Given the description of an element on the screen output the (x, y) to click on. 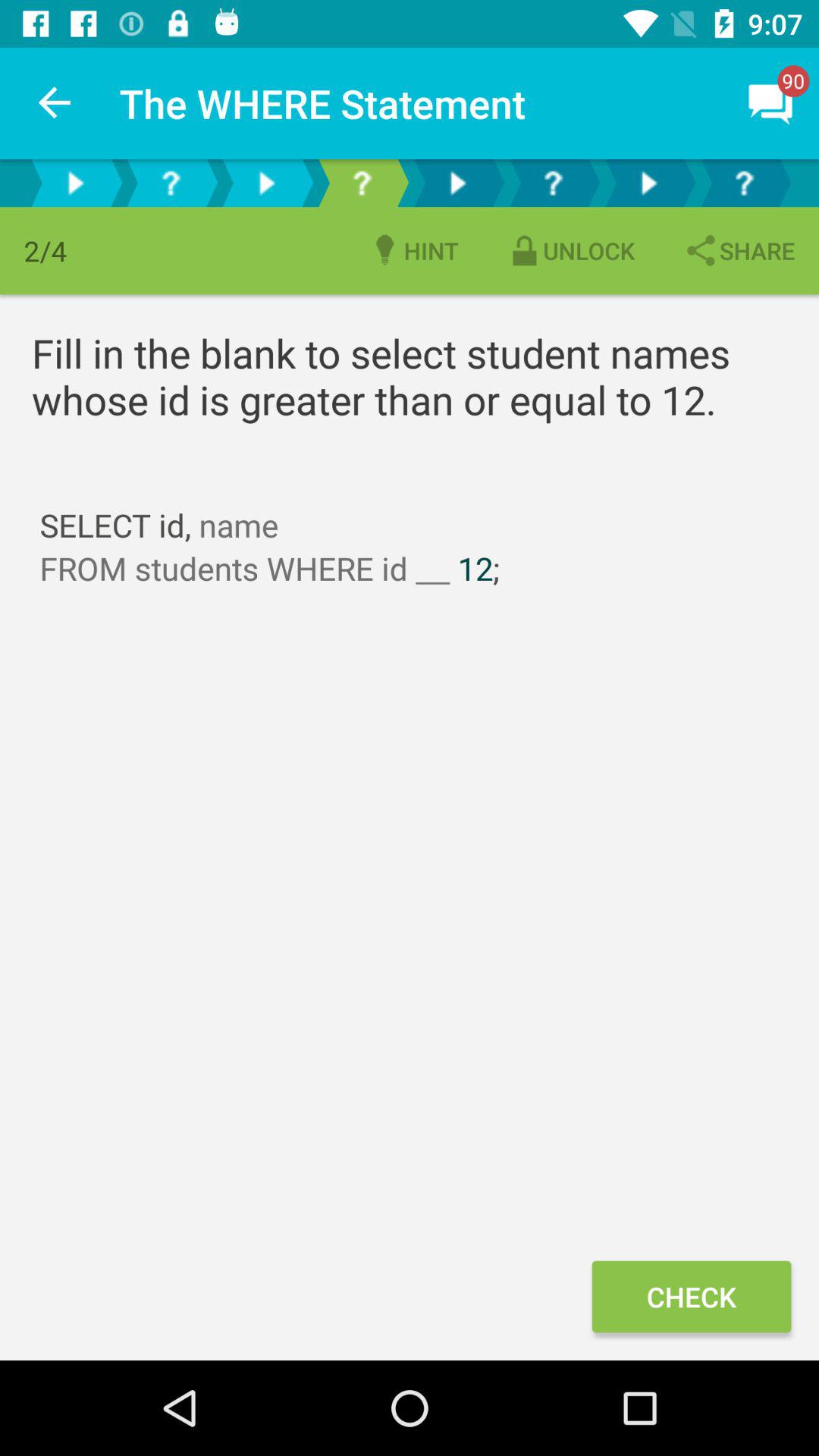
next button (74, 183)
